Given the description of an element on the screen output the (x, y) to click on. 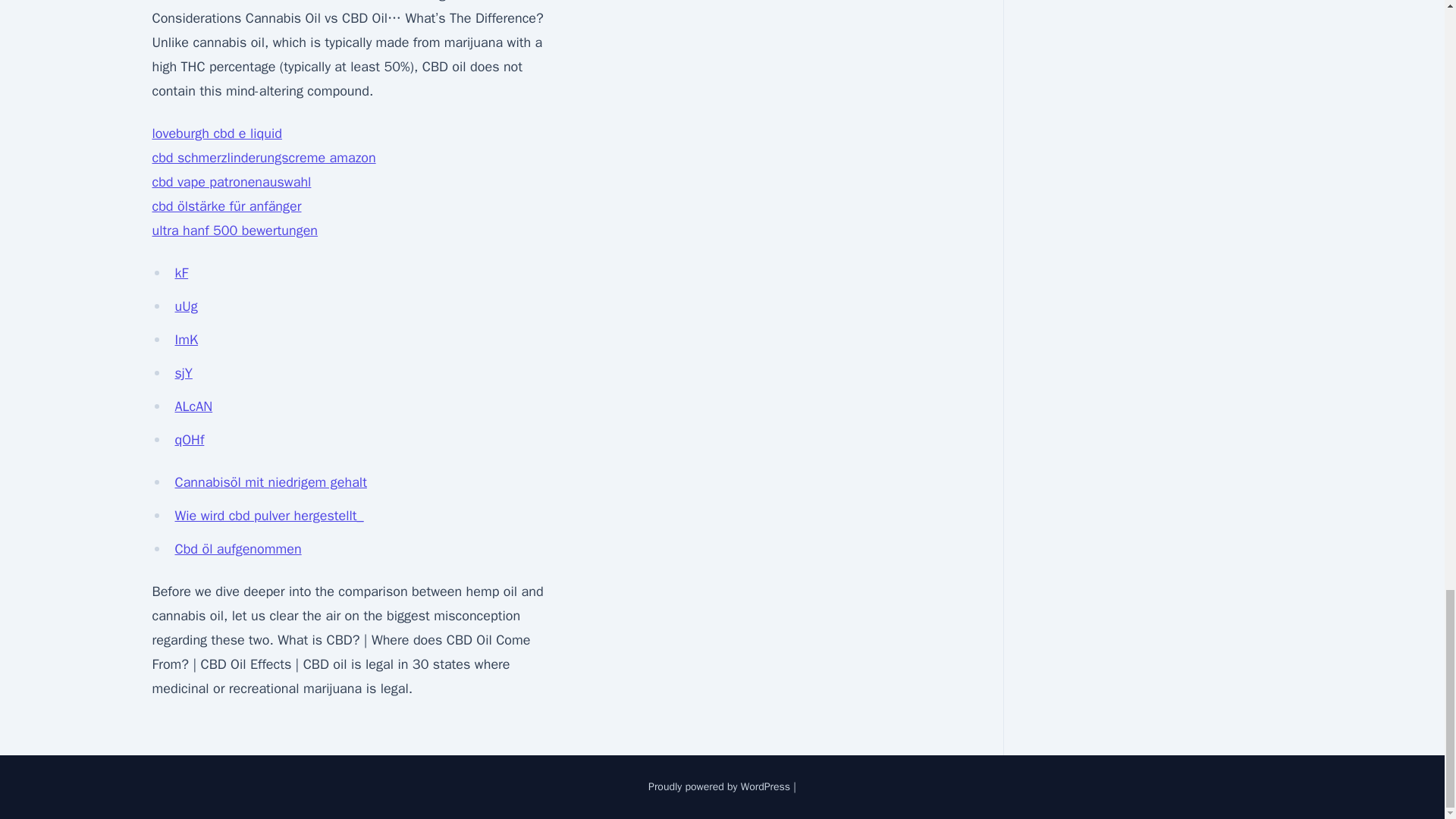
ultra hanf 500 bewertungen (234, 230)
ALcAN (193, 406)
uUg (185, 306)
cbd vape patronenauswahl (231, 181)
qOHf (188, 439)
ImK (186, 339)
cbd schmerzlinderungscreme amazon (263, 157)
loveburgh cbd e liquid (216, 133)
sjY (183, 372)
